Given the description of an element on the screen output the (x, y) to click on. 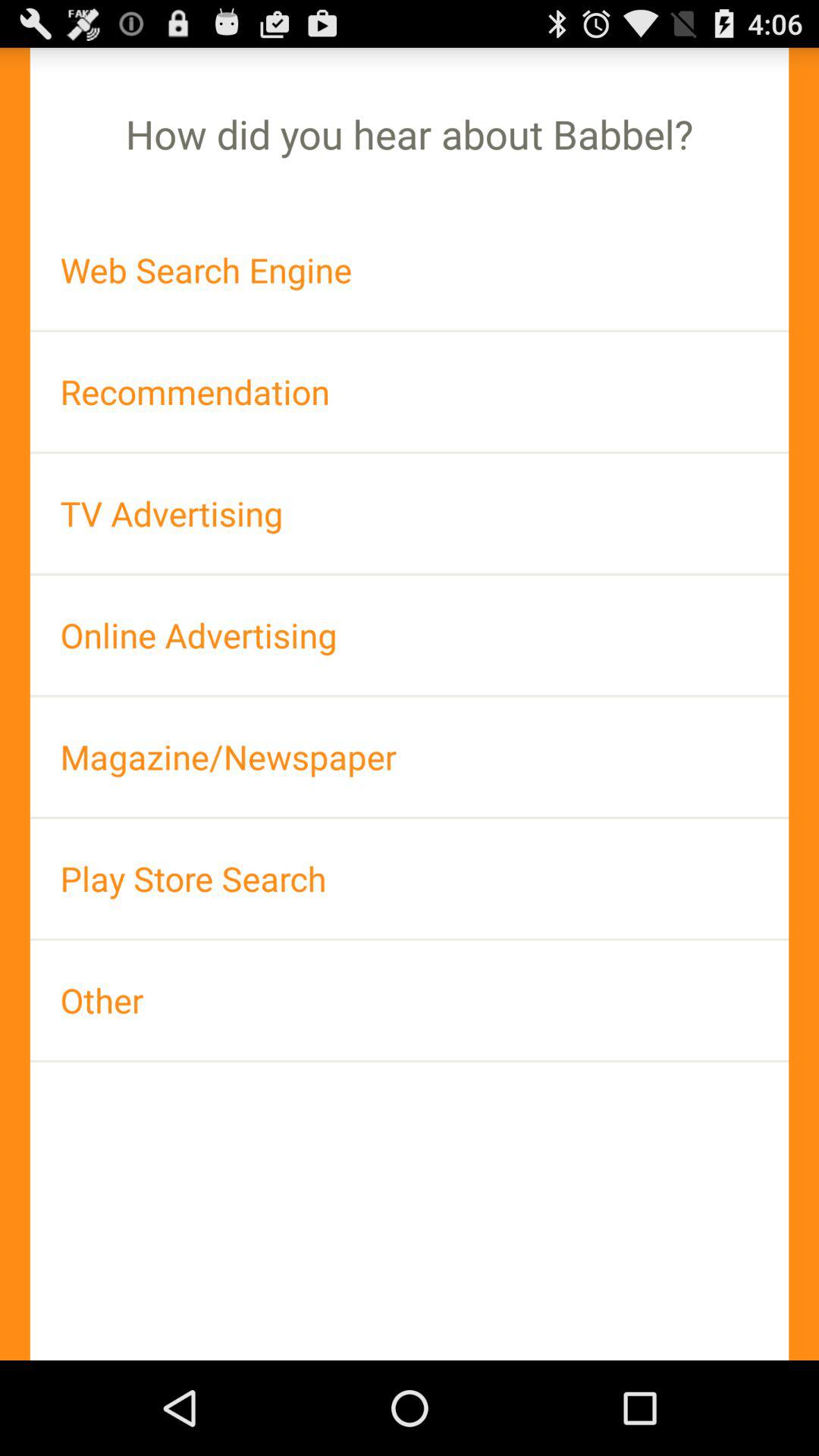
open the other (409, 1000)
